Given the description of an element on the screen output the (x, y) to click on. 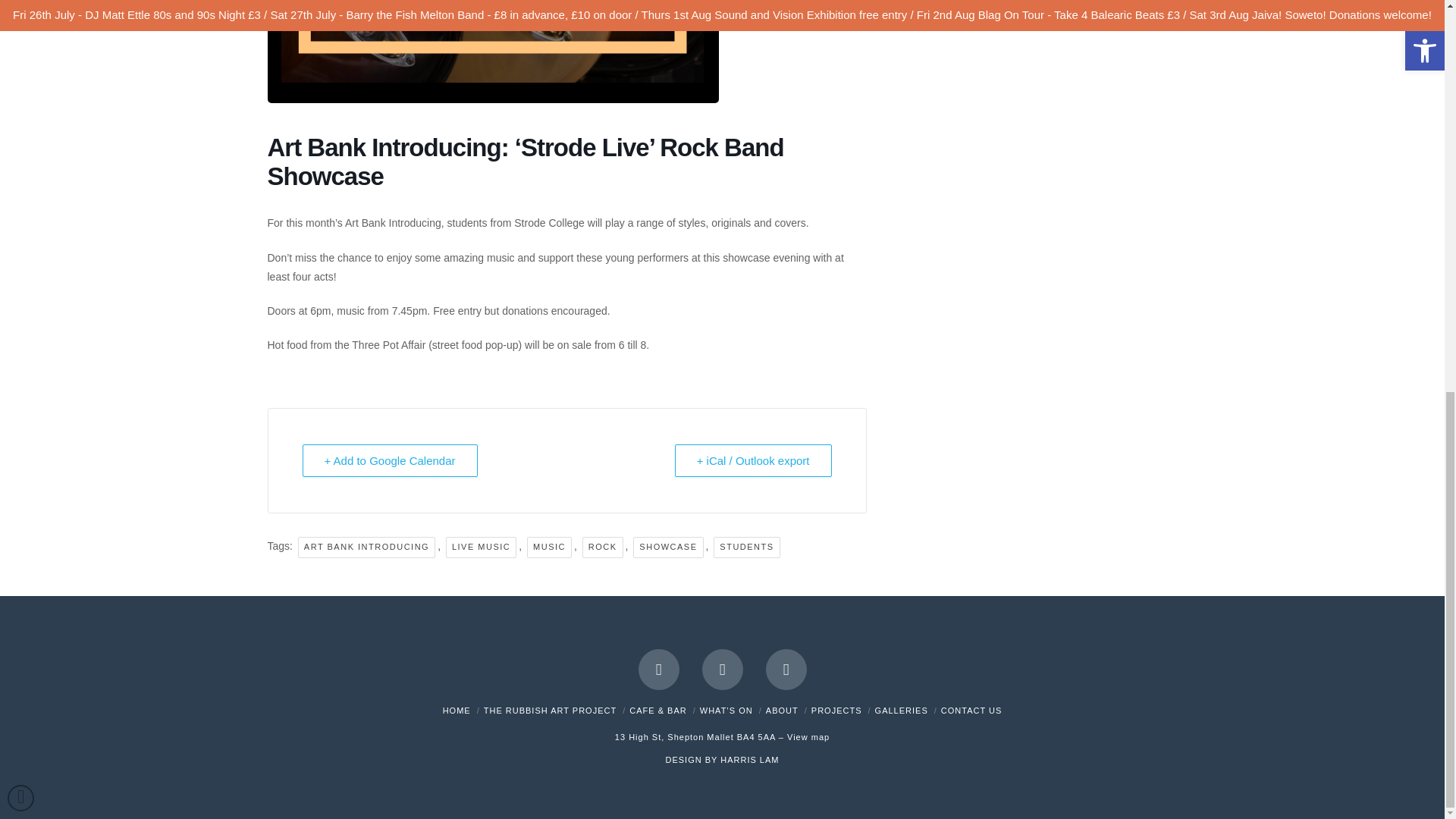
STUDENTS (745, 547)
Facebook (659, 669)
MUSIC (549, 547)
SHOWCASE (668, 547)
Harris Lam Design (749, 759)
Back to Top (20, 46)
THE RUBBISH ART PROJECT (549, 709)
Instagram (785, 669)
HOME (456, 709)
YouTube (721, 669)
View map (808, 737)
ROCK (602, 547)
LIVE MUSIC (480, 547)
ART BANK INTRODUCING (366, 547)
